Given the description of an element on the screen output the (x, y) to click on. 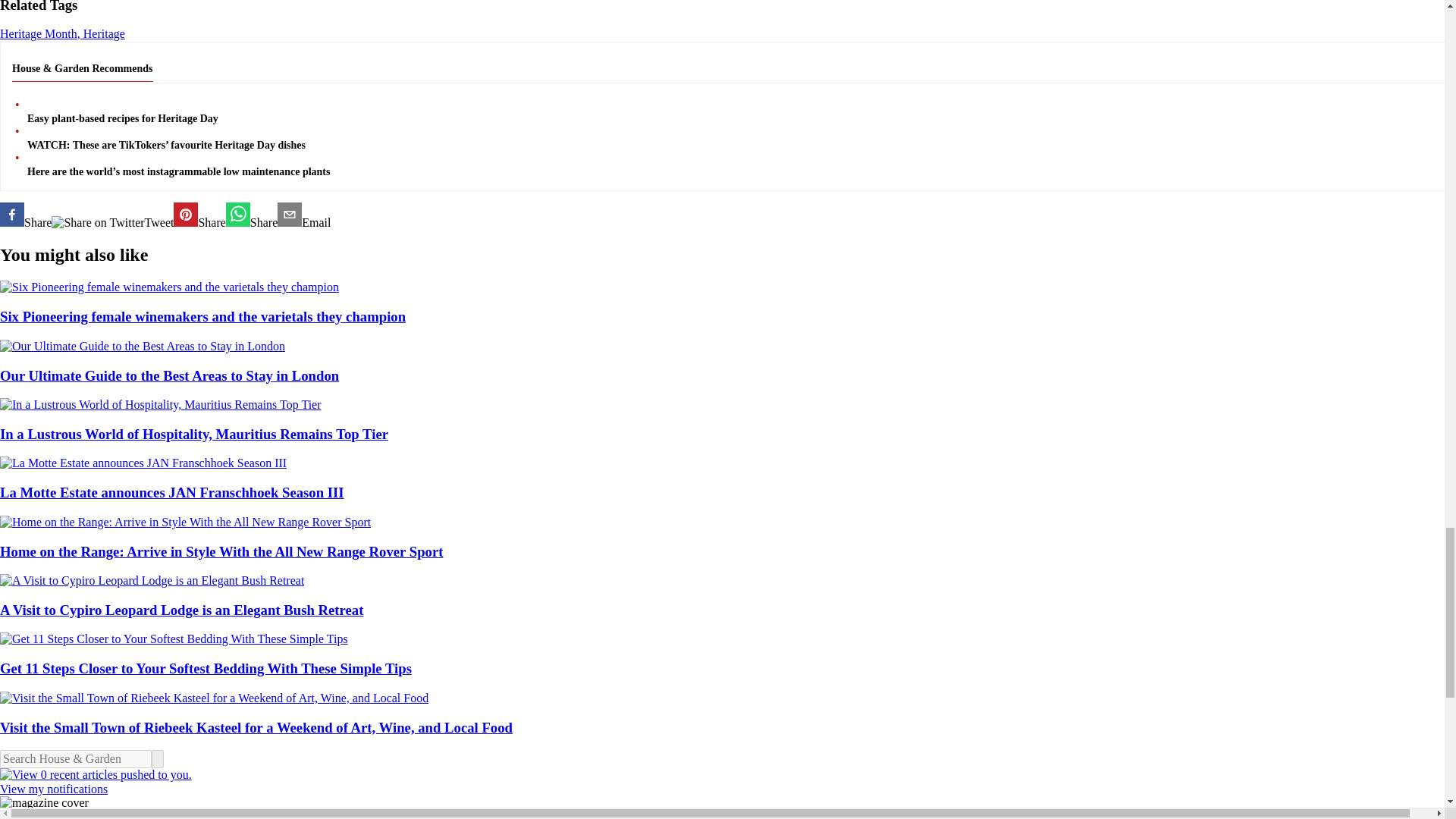
Heritage (103, 33)
Share (251, 216)
Where to spend Heritage Day in each city (199, 216)
Share (25, 216)
View my notifications (722, 782)
Tweet (111, 223)
